Given the description of an element on the screen output the (x, y) to click on. 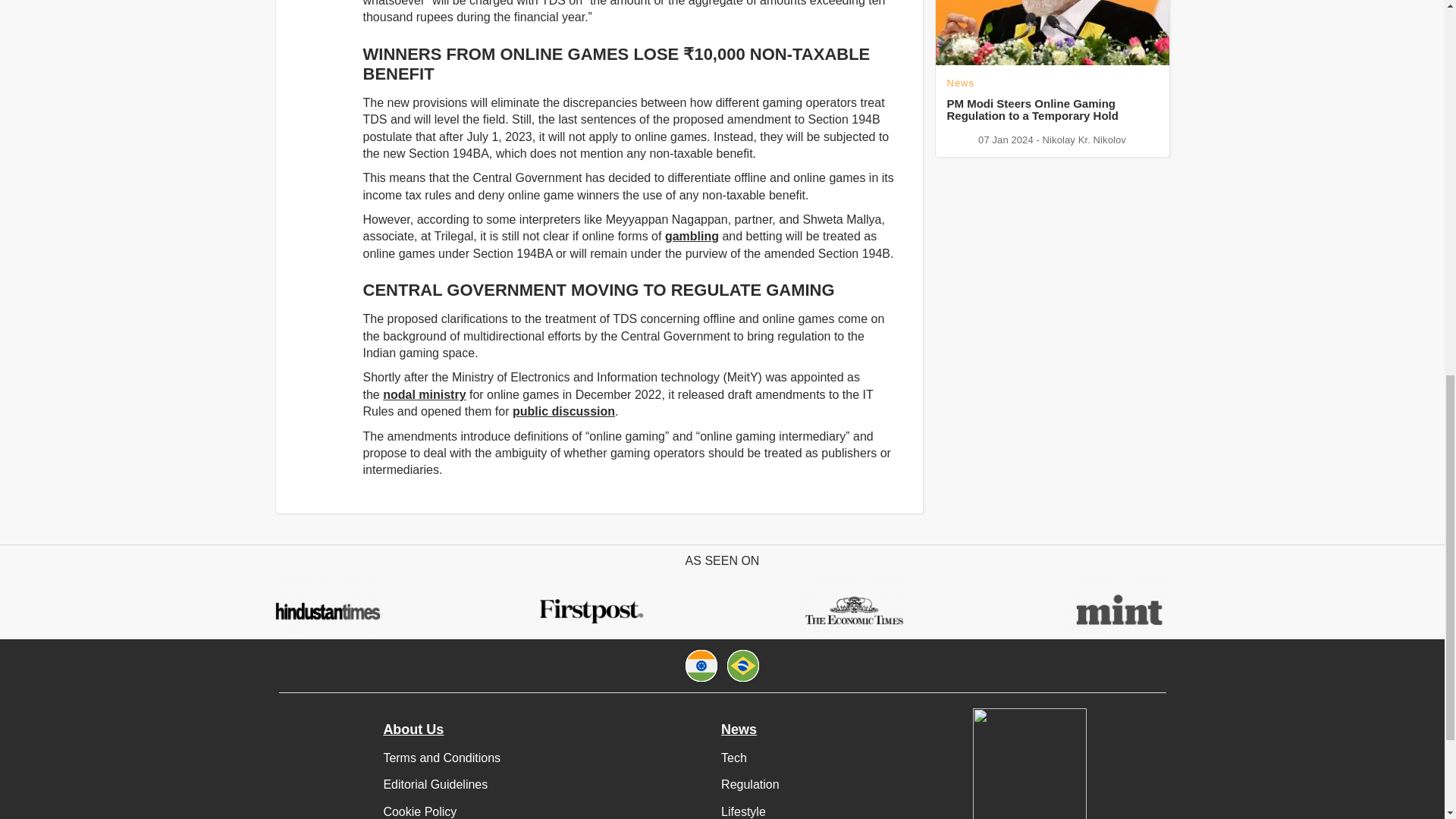
gambling (692, 236)
nodal ministry (423, 394)
public discussion (563, 410)
About Us (413, 729)
Terms and Conditions (441, 757)
Editorial Guidelines (434, 784)
Cookie Policy (419, 808)
